Given the description of an element on the screen output the (x, y) to click on. 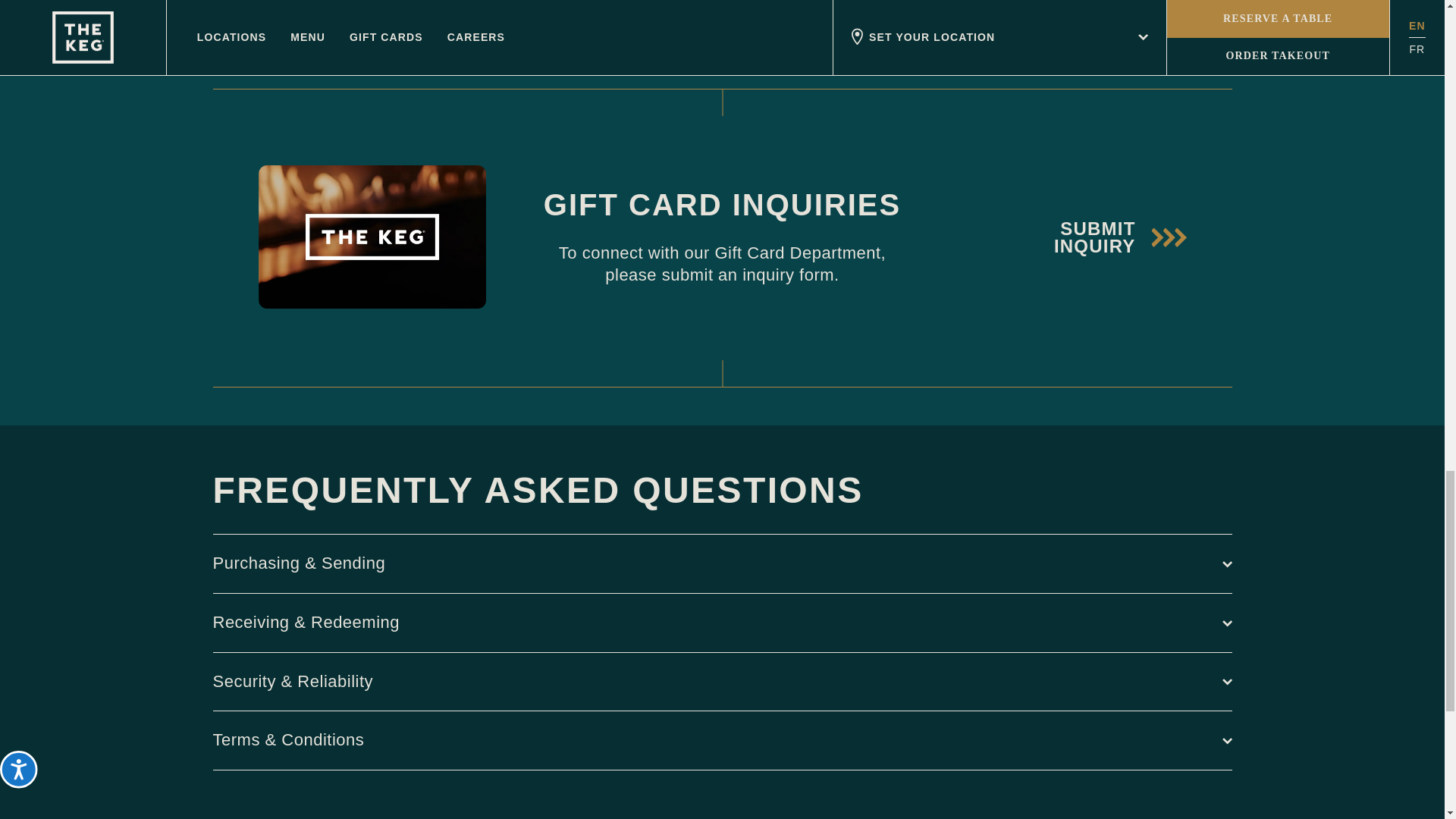
Privacy Policy (987, 0)
SUBMIT INQUIRY (1085, 237)
Terms of Service (1077, 0)
